Given the description of an element on the screen output the (x, y) to click on. 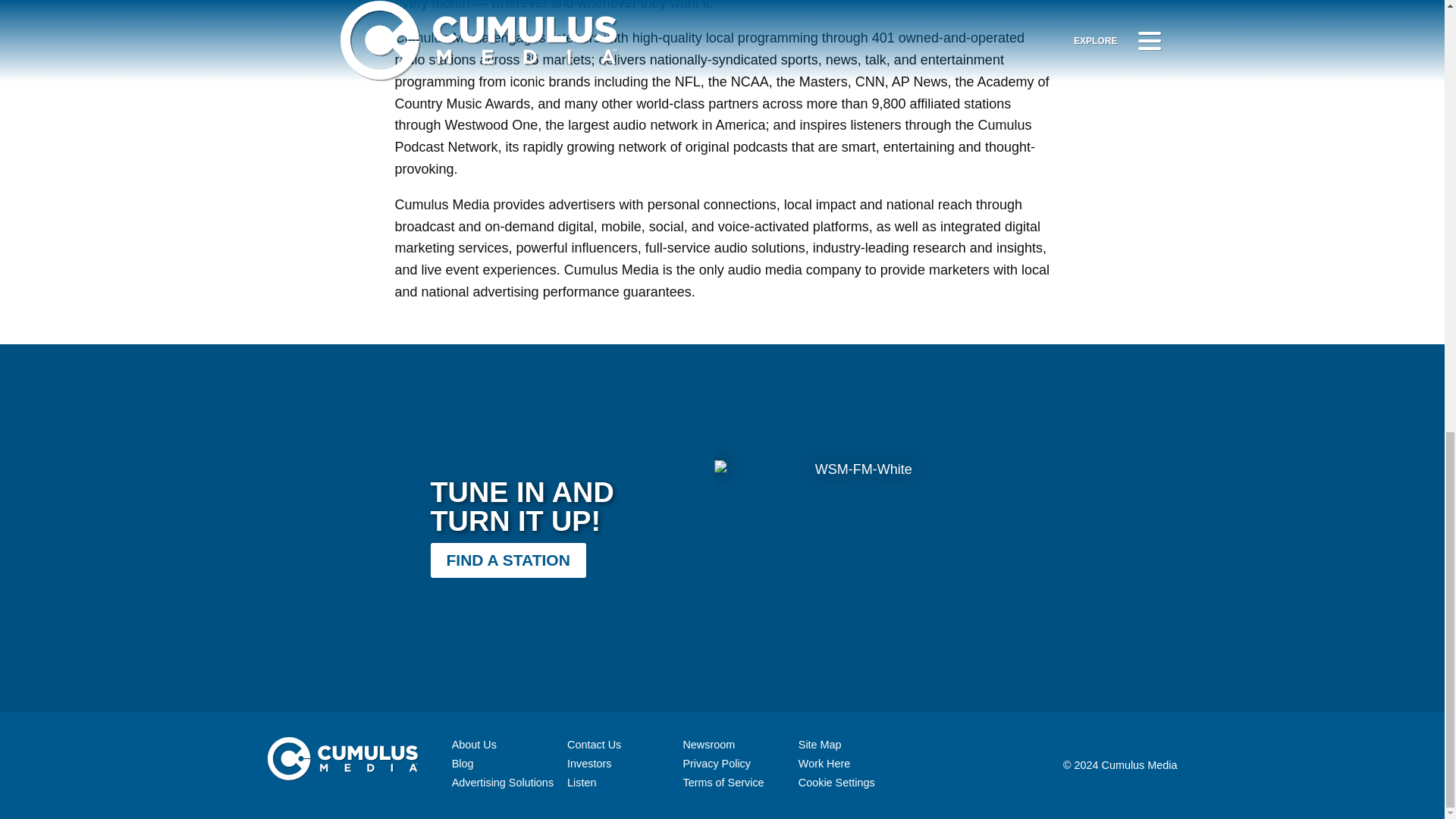
Investors (589, 763)
Terms of Service (722, 782)
Newsroom (708, 744)
Blog (462, 763)
Privacy Policy (716, 763)
About Us (473, 744)
Listen (581, 782)
Site Map (819, 744)
FIND A STATION (508, 560)
Contact Us (594, 744)
Advertising Solutions (502, 782)
